Given the description of an element on the screen output the (x, y) to click on. 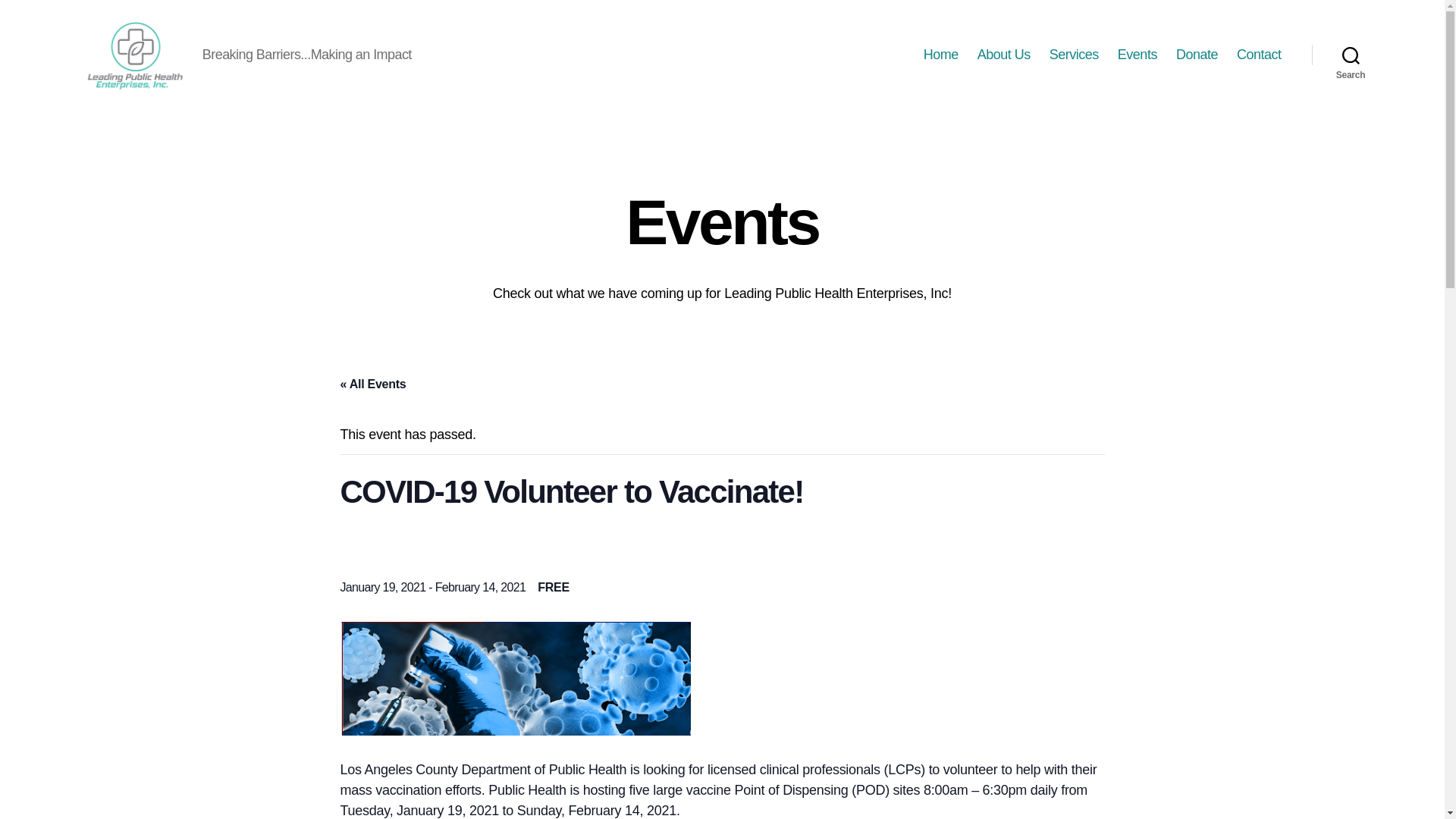
Donate (1196, 54)
Search (1350, 55)
Events (1137, 54)
About Us (1003, 54)
Contact (1258, 54)
Services (1074, 54)
Home (940, 54)
